Given the description of an element on the screen output the (x, y) to click on. 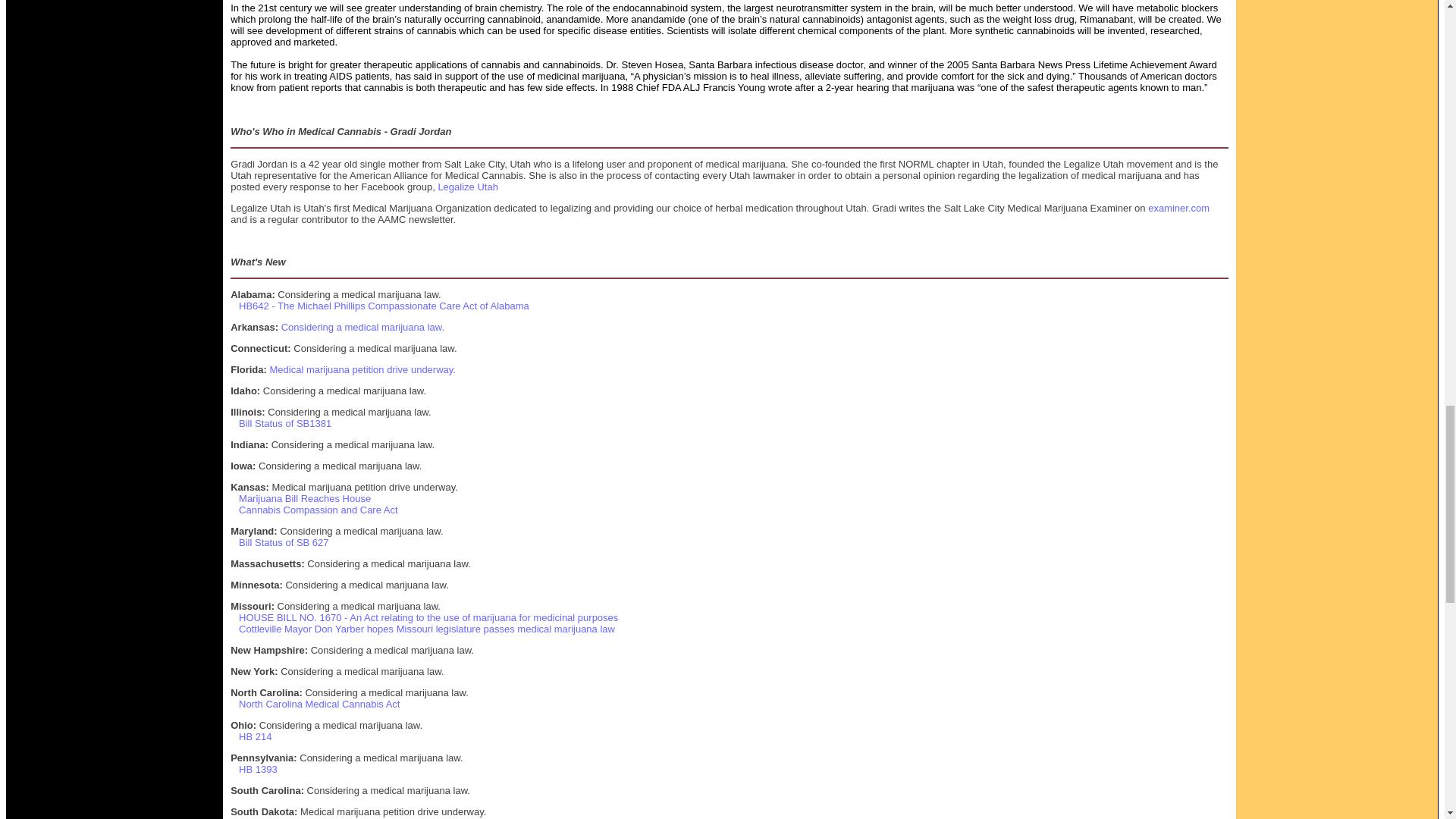
Legalize Utah (467, 186)
examiner.com (1178, 207)
Medical marijuana petition drive underway. (362, 369)
Bill Status of SB1381 (284, 423)
Marijuana Bill Reaches House (304, 498)
HB 214 (254, 736)
HB 1393 (258, 768)
Cannabis Compassion and Care Act (317, 509)
Bill Status of SB 627 (283, 542)
Considering a medical marijuana law. (362, 326)
North Carolina Medical Cannabis Act (318, 704)
